Given the description of an element on the screen output the (x, y) to click on. 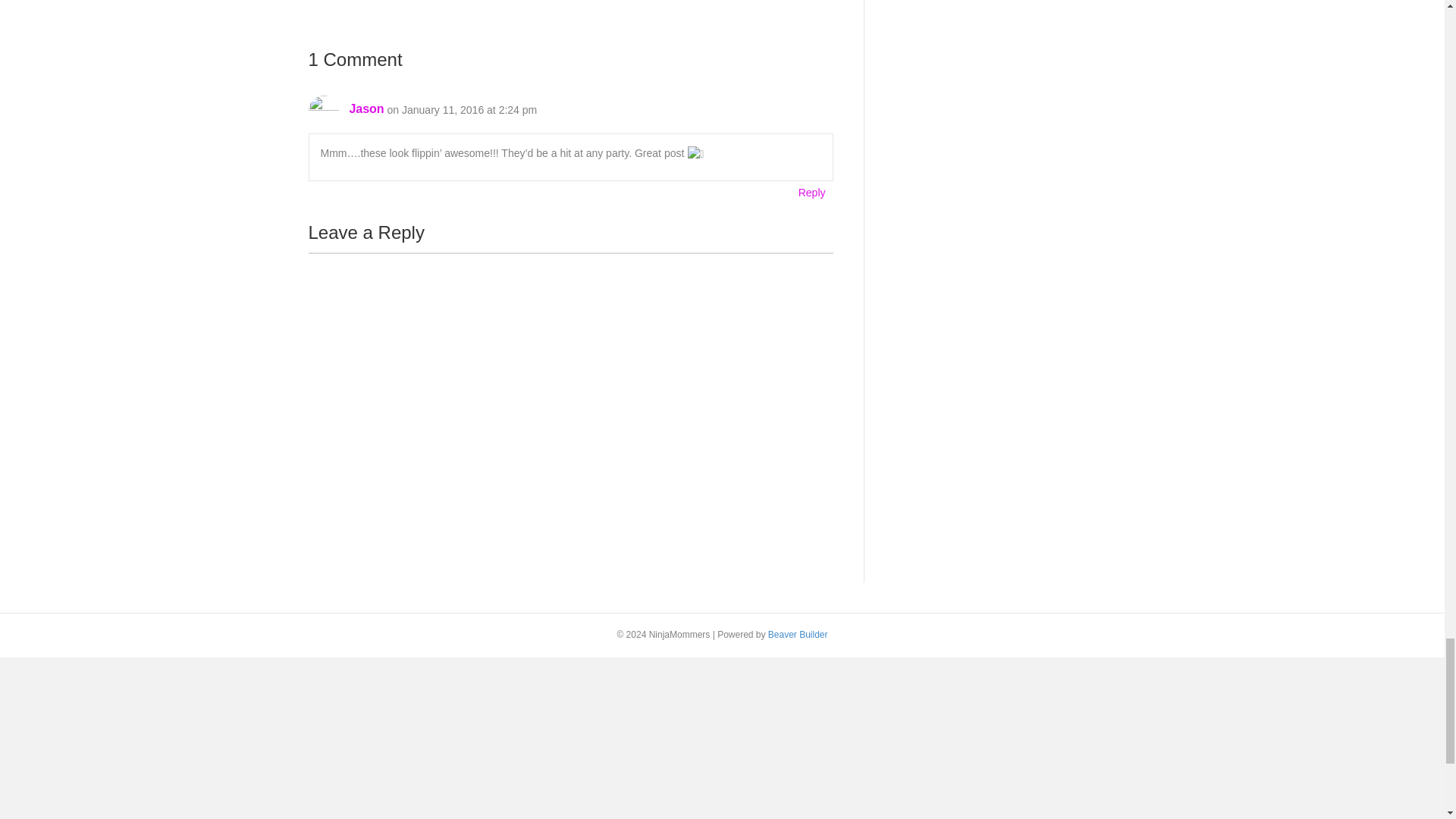
WordPress Page Builder Plugin (798, 634)
